Given the description of an element on the screen output the (x, y) to click on. 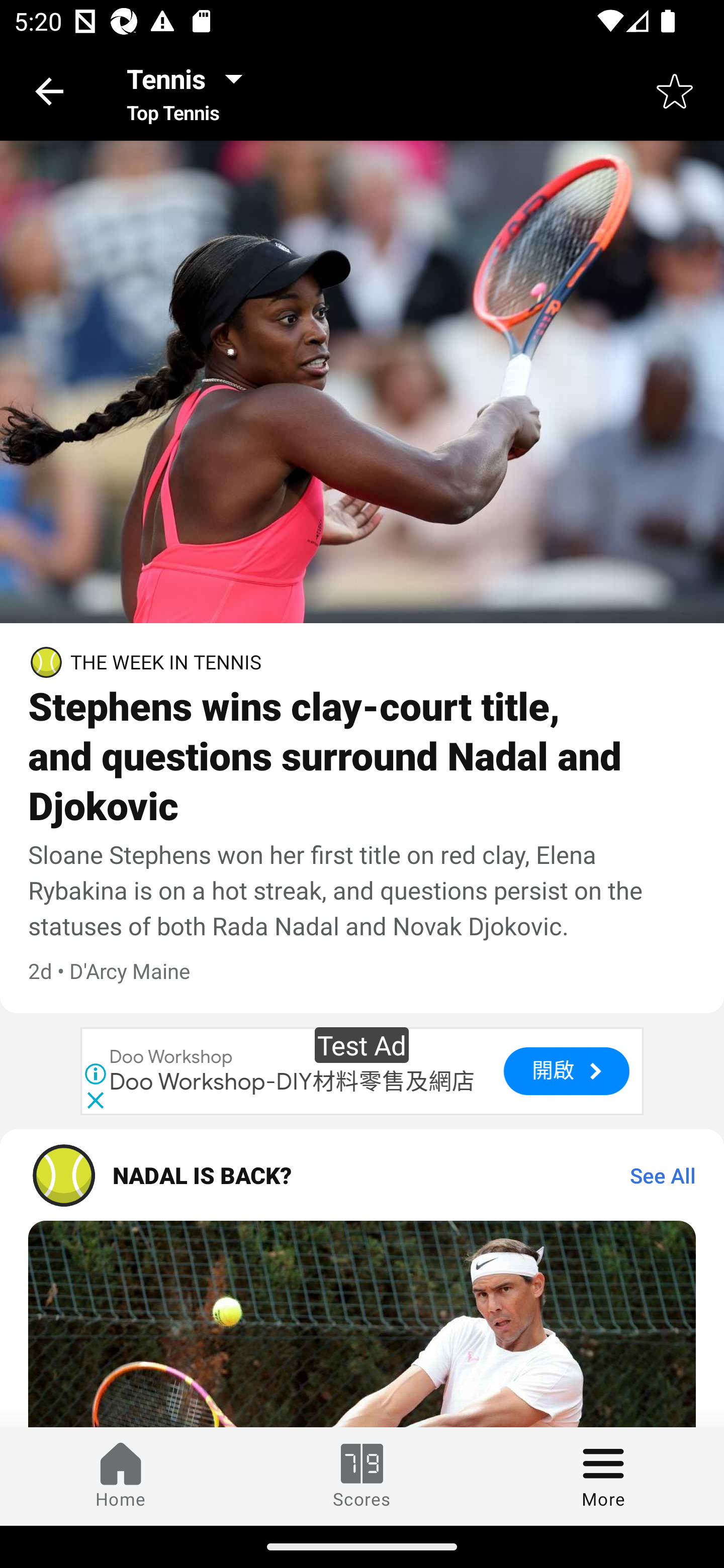
Tennis Top Tennis (190, 90)
Favorite toggle (674, 90)
NADAL IS BACK? See All (362, 1174)
Home (120, 1475)
Scores (361, 1475)
